Given the description of an element on the screen output the (x, y) to click on. 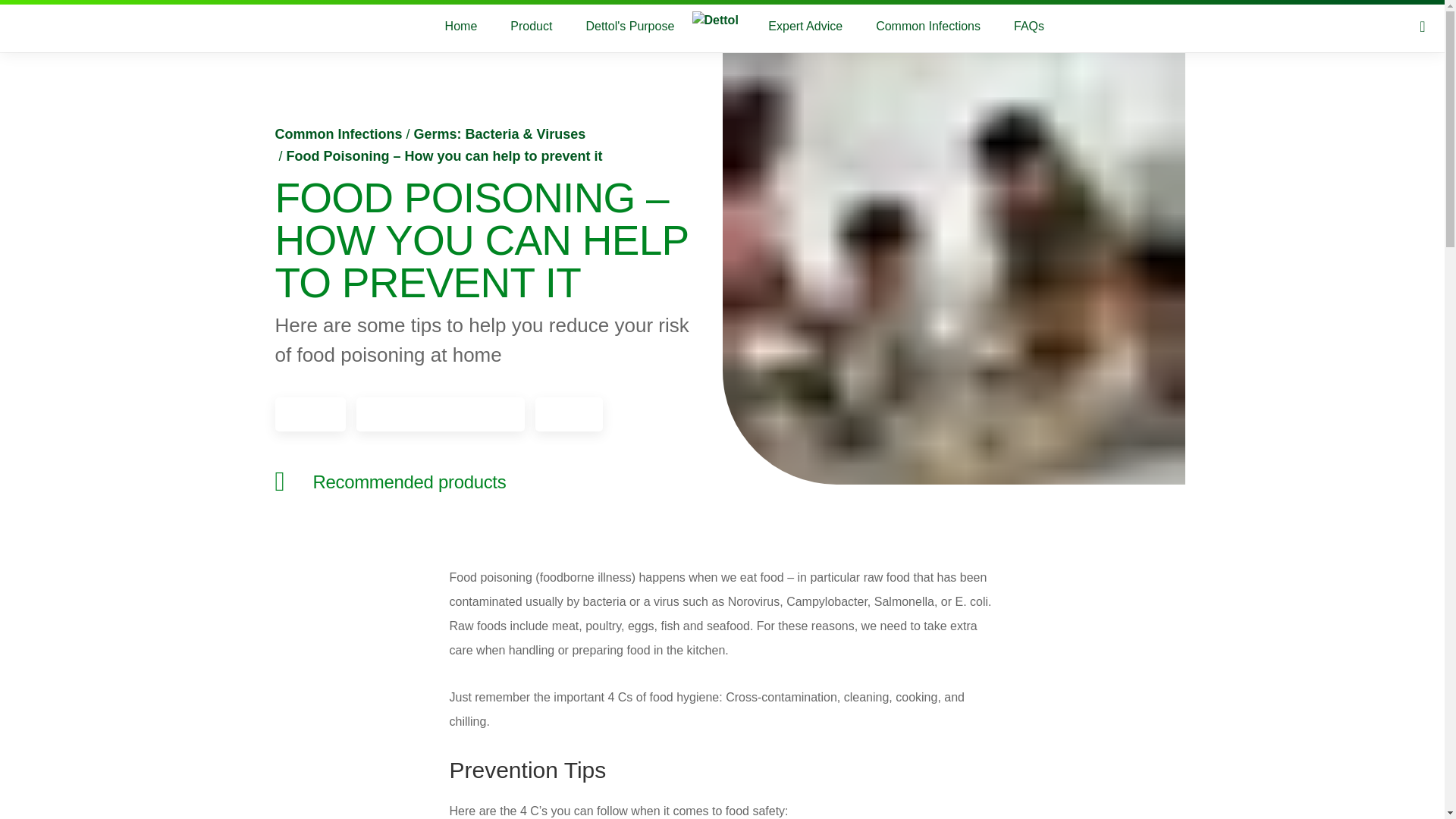
Recommended products (393, 481)
Dettol's Purpose (629, 26)
Home (461, 26)
FAQs (1028, 26)
Children (310, 414)
Common Infections (338, 133)
Common Infections (927, 26)
Expert Advice (805, 26)
Parents (568, 414)
Product (531, 26)
